Given the description of an element on the screen output the (x, y) to click on. 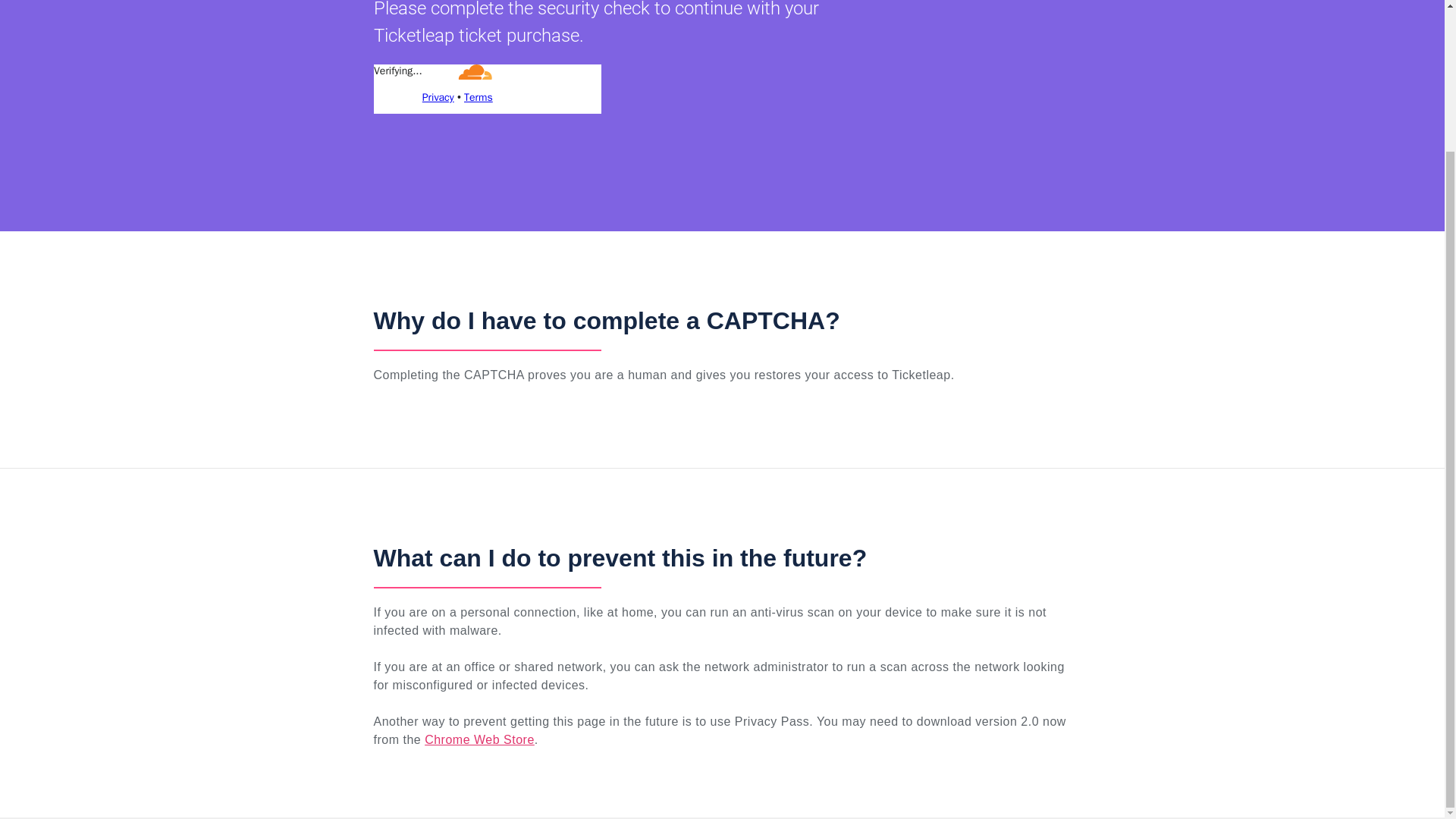
Chrome Web Store (479, 739)
